Given the description of an element on the screen output the (x, y) to click on. 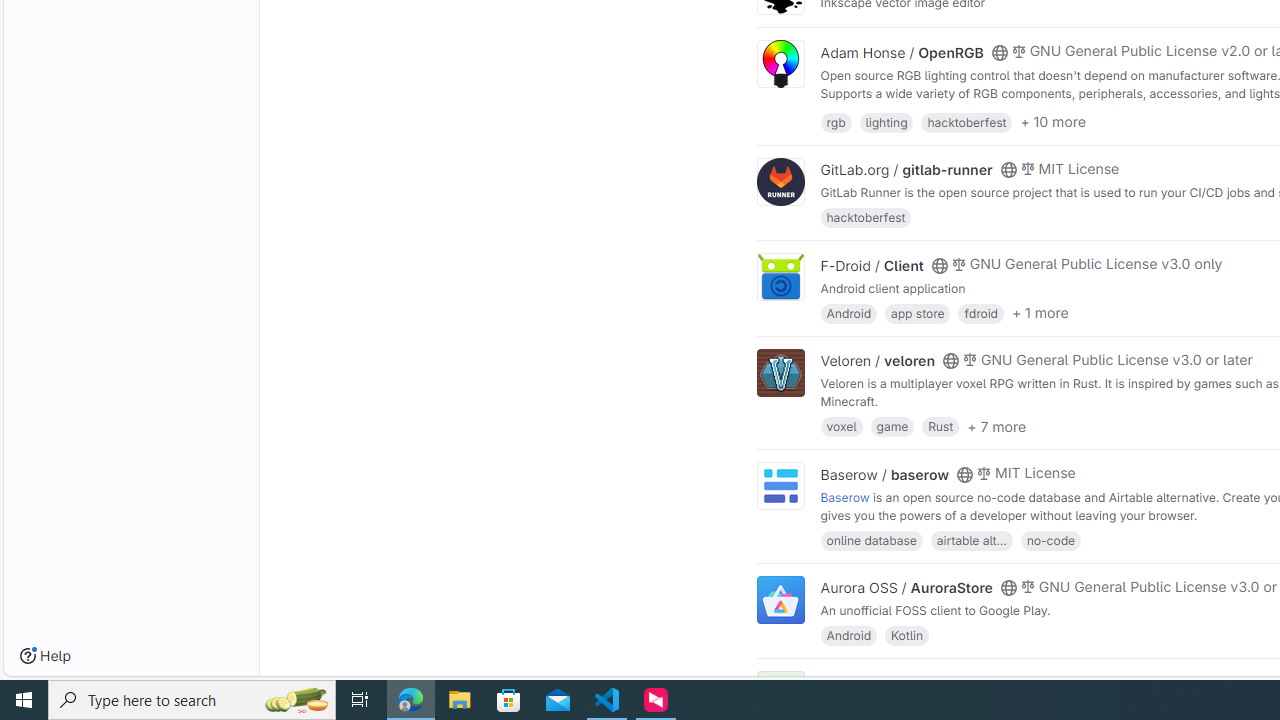
game (892, 426)
Android (848, 634)
Baserow (845, 496)
Adam Honse / OpenRGB (902, 52)
Veloren / veloren (877, 361)
+ 10 more (1053, 121)
Aurora OSS / AuroraStore (906, 587)
Rust (940, 426)
Class: s14 gl-mr-2 (1018, 681)
+ 7 more (996, 425)
Kotlin (907, 634)
airtable alt... (971, 539)
Help (45, 655)
GitLab.org / gitlab-runner (906, 170)
Baserow / baserow (884, 474)
